Given the description of an element on the screen output the (x, y) to click on. 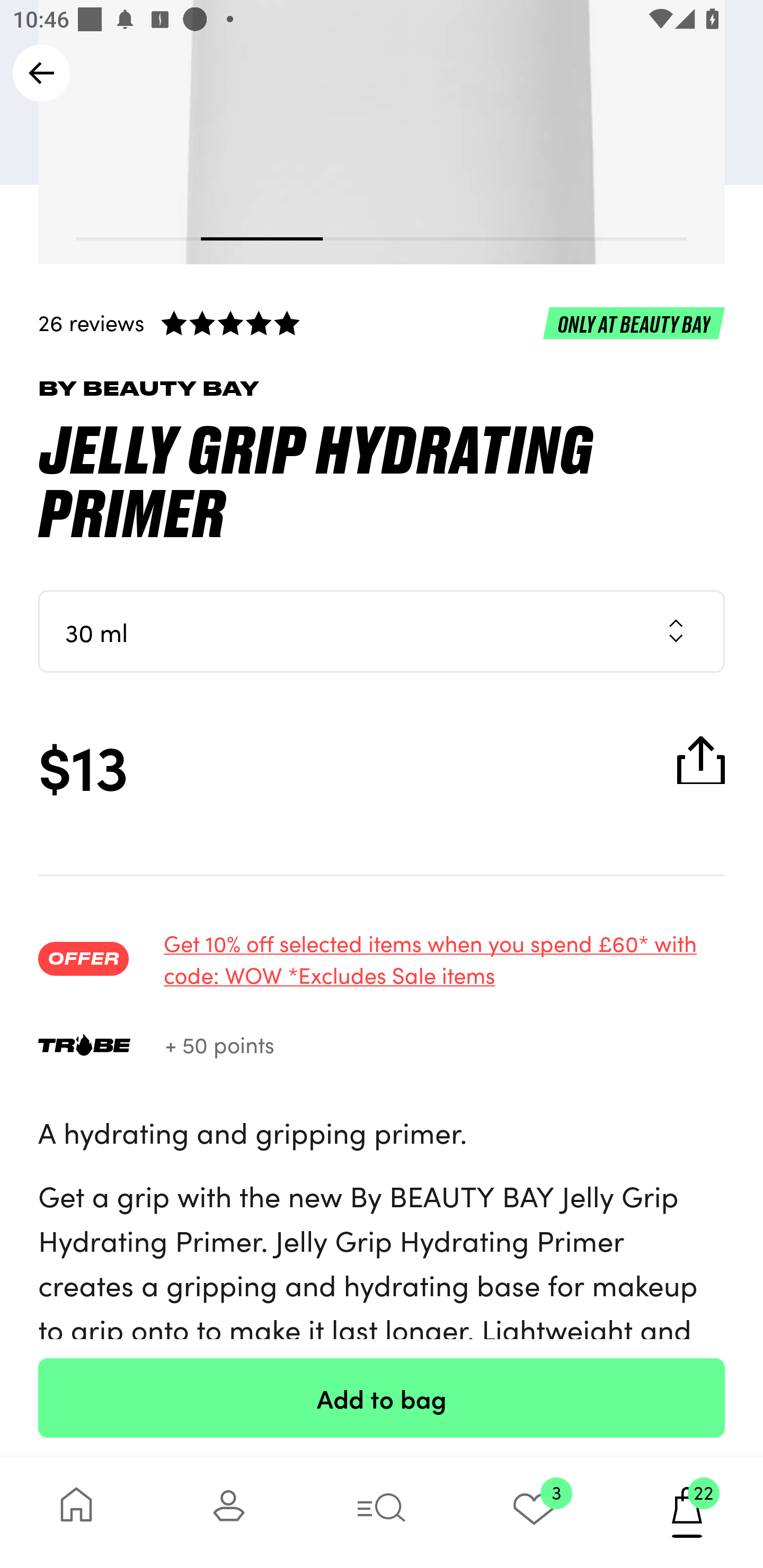
26 reviews (381, 321)
30 ml  (381, 630)
Add to bag (381, 1397)
3 (533, 1512)
22 (686, 1512)
